Given the description of an element on the screen output the (x, y) to click on. 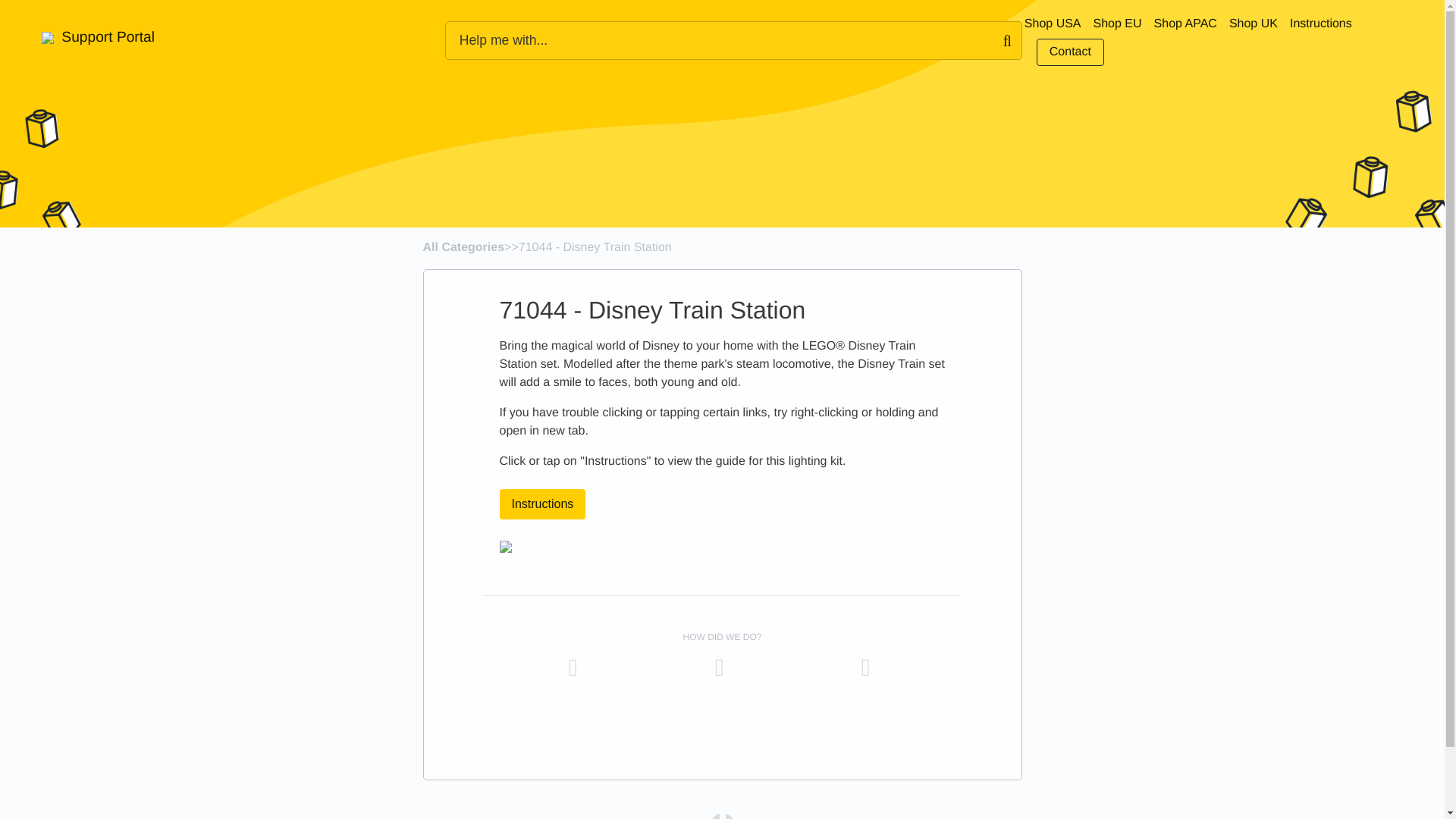
Instructions (1321, 23)
Support Portal (98, 38)
Shop USA (1053, 23)
All Categories (464, 246)
Contact (1069, 52)
Instructions (542, 503)
Instructions (547, 504)
Shop APAC (1185, 23)
Shop UK (1253, 23)
Shop EU (1117, 23)
